Given the description of an element on the screen output the (x, y) to click on. 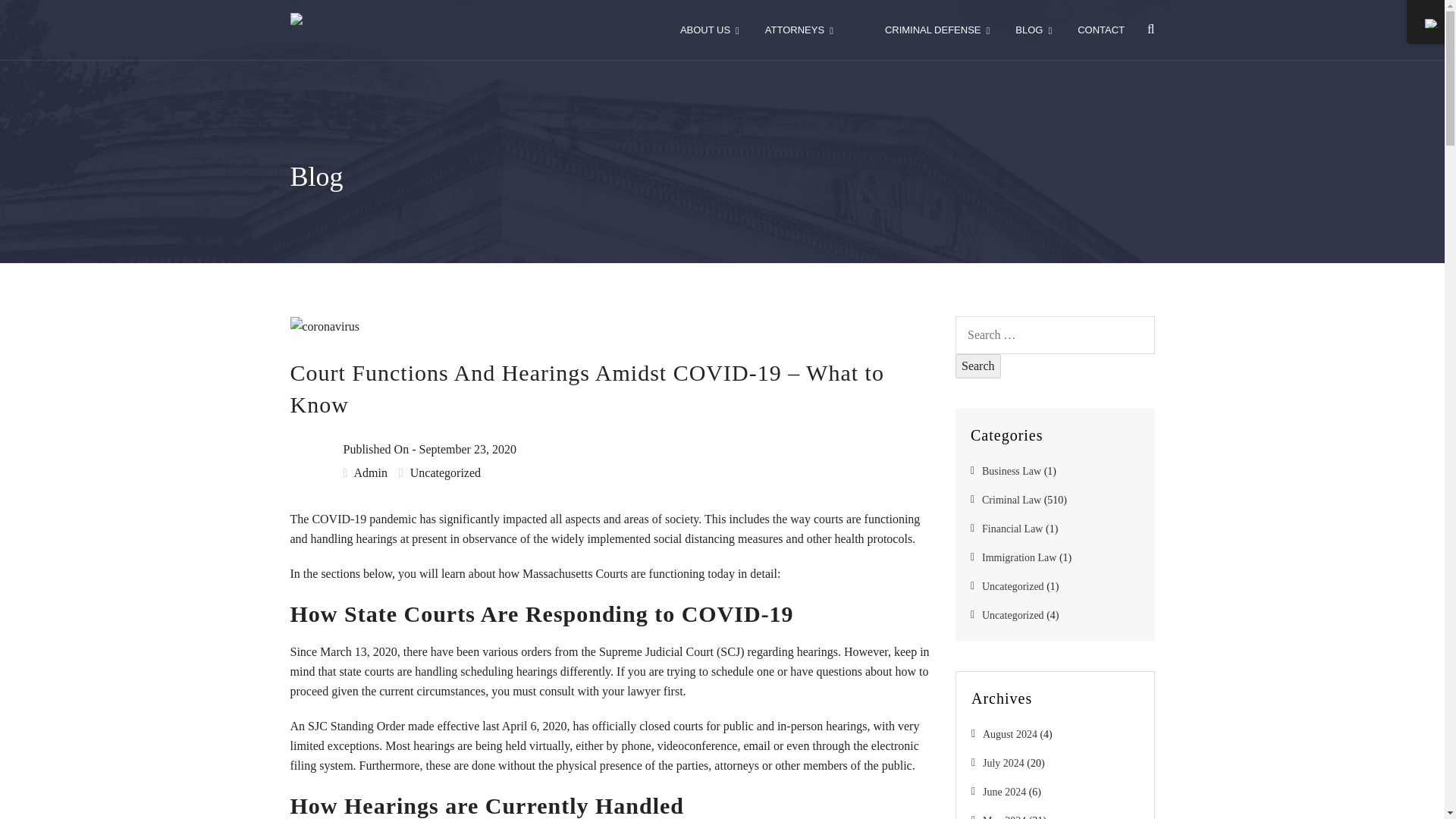
Search (978, 365)
ATTORNEYS (798, 29)
CRIMINAL DEFENSE (937, 29)
Search (978, 365)
ABOUT US (709, 29)
